Given the description of an element on the screen output the (x, y) to click on. 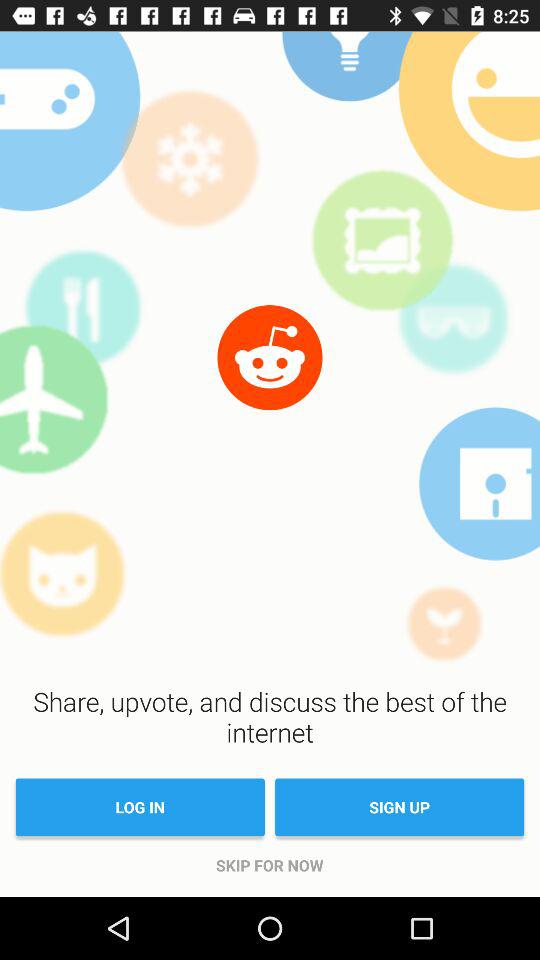
scroll until the sign up item (399, 807)
